Given the description of an element on the screen output the (x, y) to click on. 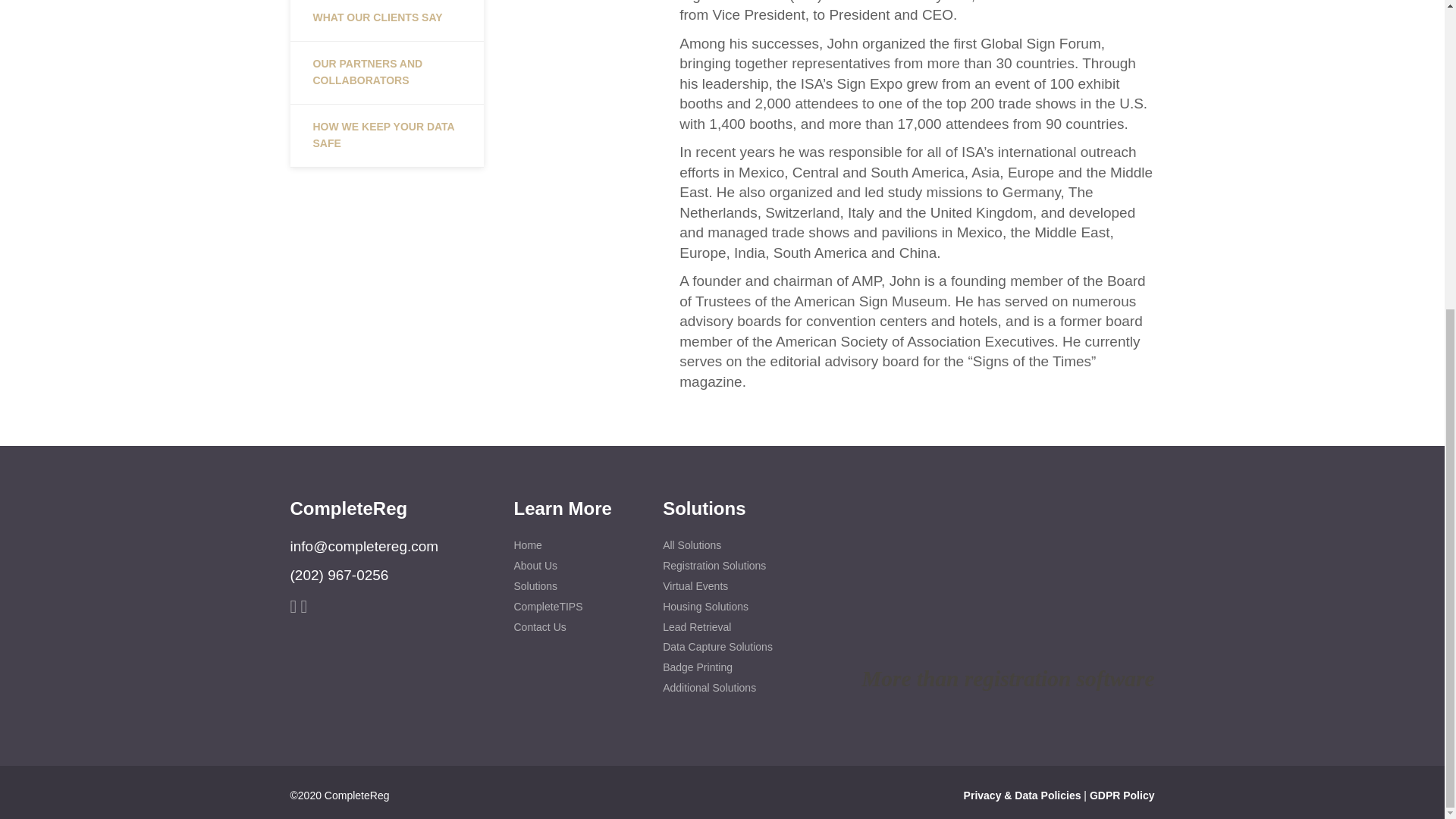
OUR PARTNERS AND COLLABORATORS (386, 72)
Solutions (573, 587)
All Solutions (721, 546)
WHAT OUR CLIENTS SAY (386, 20)
HOW WE KEEP YOUR DATA SAFE (386, 135)
About Us (573, 566)
Contact Us (573, 628)
CompleteTIPS (573, 607)
Home (573, 546)
